Given the description of an element on the screen output the (x, y) to click on. 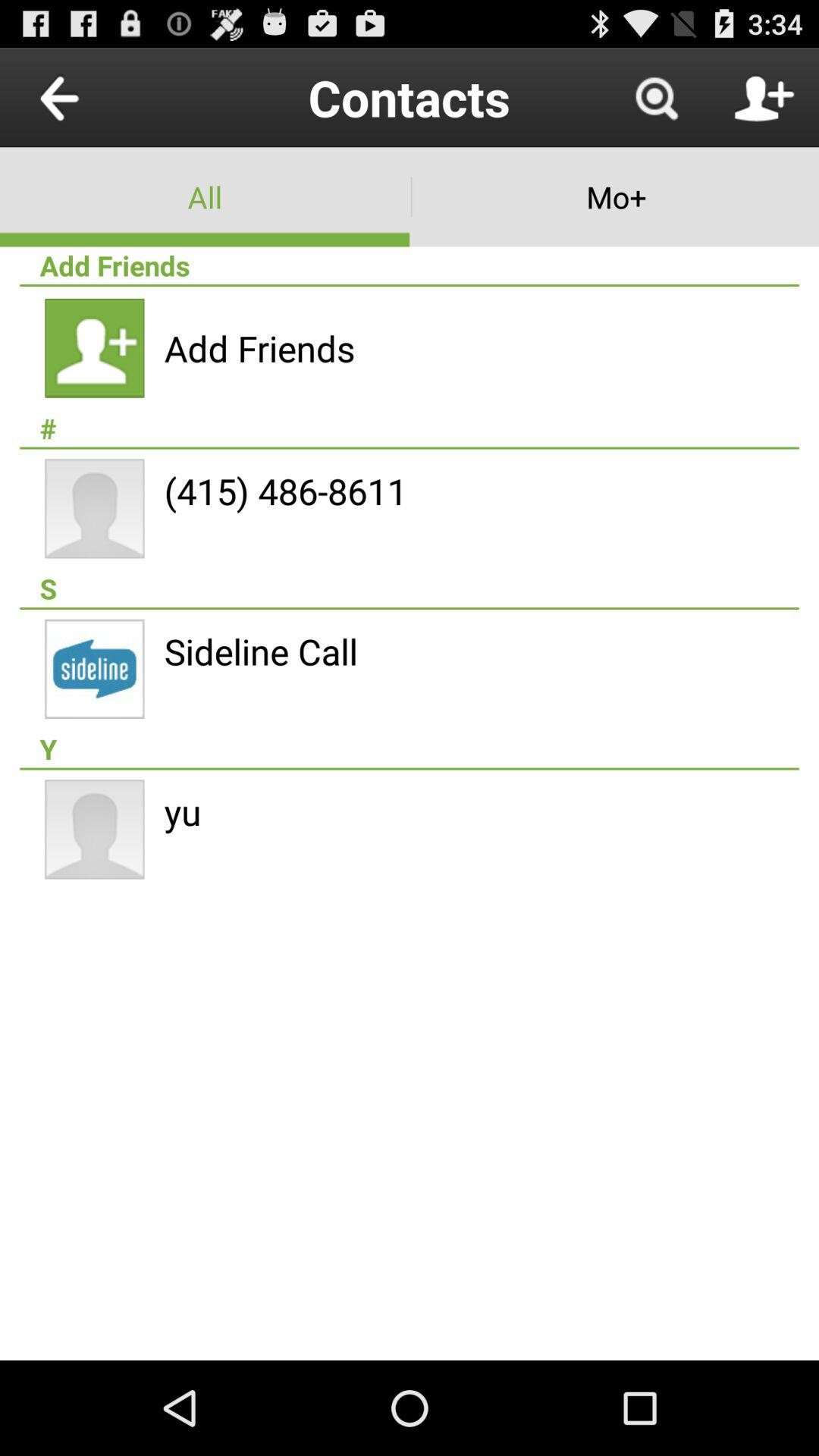
jump until the mo+ (614, 196)
